Given the description of an element on the screen output the (x, y) to click on. 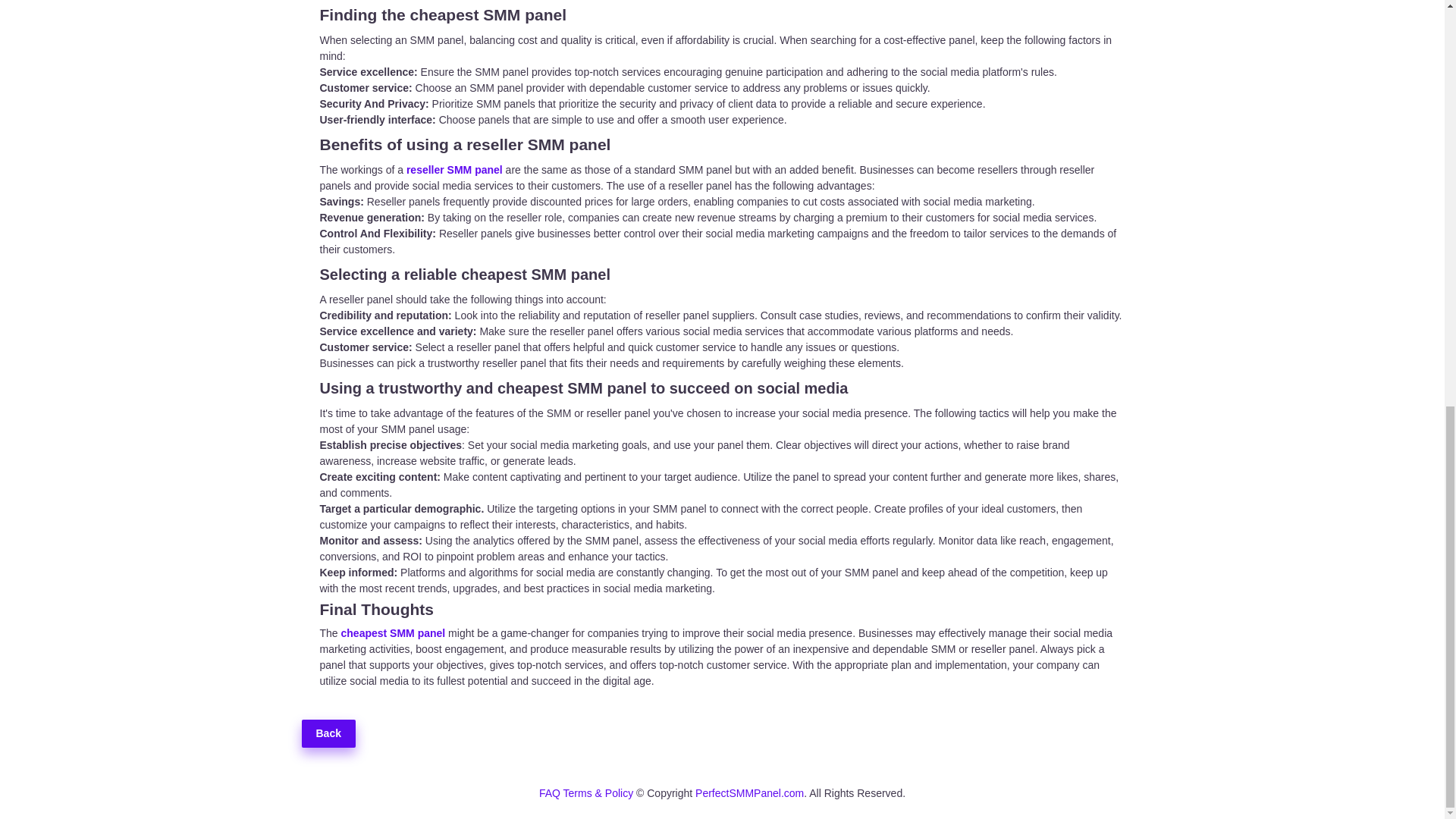
reseller SMM panel (454, 169)
Back (328, 733)
PerfectSMMPanel.com (749, 793)
FAQ (550, 793)
cheapest SMM panel (392, 633)
